Given the description of an element on the screen output the (x, y) to click on. 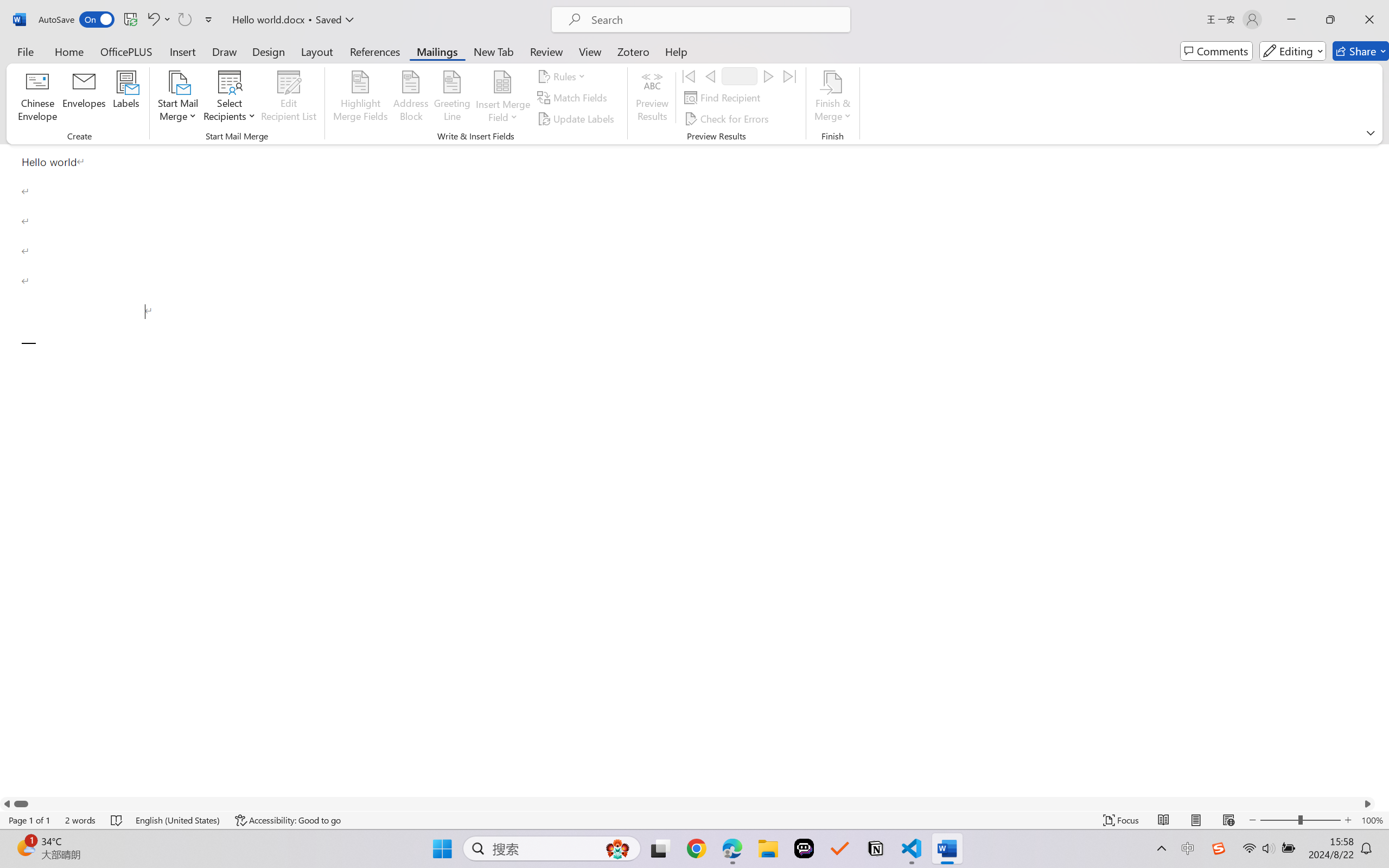
Home (69, 51)
Undo Paragraph Formatting (152, 19)
Insert Merge Field (502, 97)
Preview Results (652, 97)
Highlight Merge Fields (360, 97)
Find Recipient... (723, 97)
Page Number Page 1 of 1 (29, 819)
Address Block... (410, 97)
Class: MsoCommandBar (694, 819)
First (688, 75)
More Options (502, 112)
Chinese Envelope... (37, 97)
AutoSave (76, 19)
View (589, 51)
Start Mail Merge (177, 97)
